Given the description of an element on the screen output the (x, y) to click on. 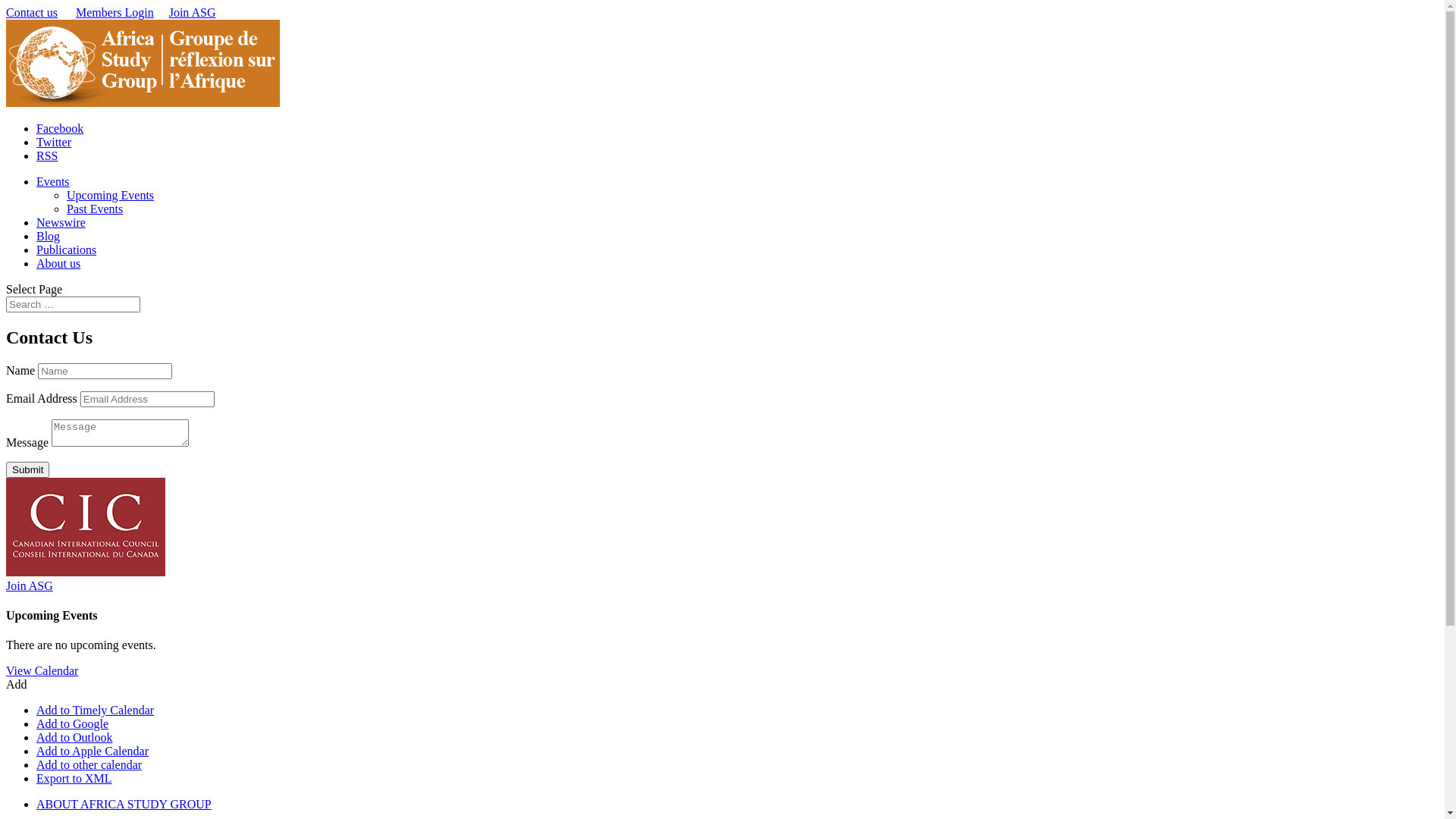
RSS Element type: text (46, 155)
Blog Element type: text (47, 235)
Publications Element type: text (66, 249)
Submit Element type: text (27, 469)
Twitter Element type: text (53, 141)
Add to Timely Calendar Element type: text (94, 709)
Events Element type: text (52, 181)
Newswire Element type: text (60, 222)
Add to Outlook Element type: text (74, 737)
Members Login Element type: text (114, 12)
Join ASG Element type: text (29, 585)
Add to other calendar Element type: text (88, 764)
Join ASG Element type: text (192, 12)
Facebook Element type: text (59, 128)
Add to Google Element type: text (72, 723)
About us Element type: text (58, 263)
Add to Apple Calendar Element type: text (92, 750)
Search for: Element type: hover (73, 304)
Past Events Element type: text (94, 208)
Contact us Element type: text (31, 12)
View Calendar Element type: text (42, 670)
Upcoming Events Element type: text (109, 194)
Export to XML Element type: text (74, 777)
ABOUT AFRICA STUDY GROUP Element type: text (123, 803)
